Given the description of an element on the screen output the (x, y) to click on. 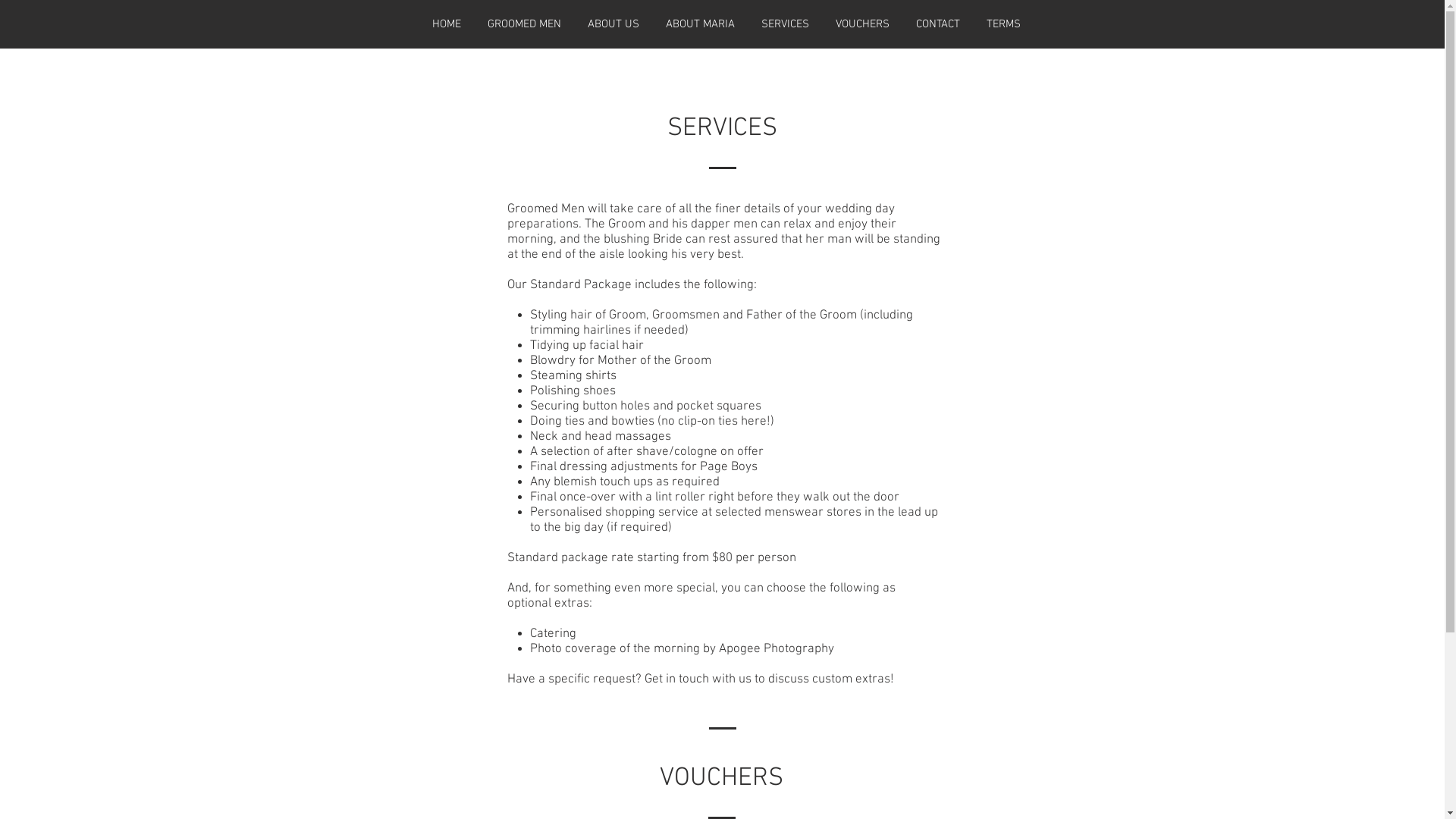
HOME Element type: text (445, 24)
GROOMED MEN Element type: text (524, 24)
ABOUT MARIA Element type: text (699, 24)
TERMS Element type: text (1003, 24)
ABOUT US Element type: text (613, 24)
SERVICES Element type: text (784, 24)
VOUCHERS Element type: text (862, 24)
CONTACT Element type: text (937, 24)
